Given the description of an element on the screen output the (x, y) to click on. 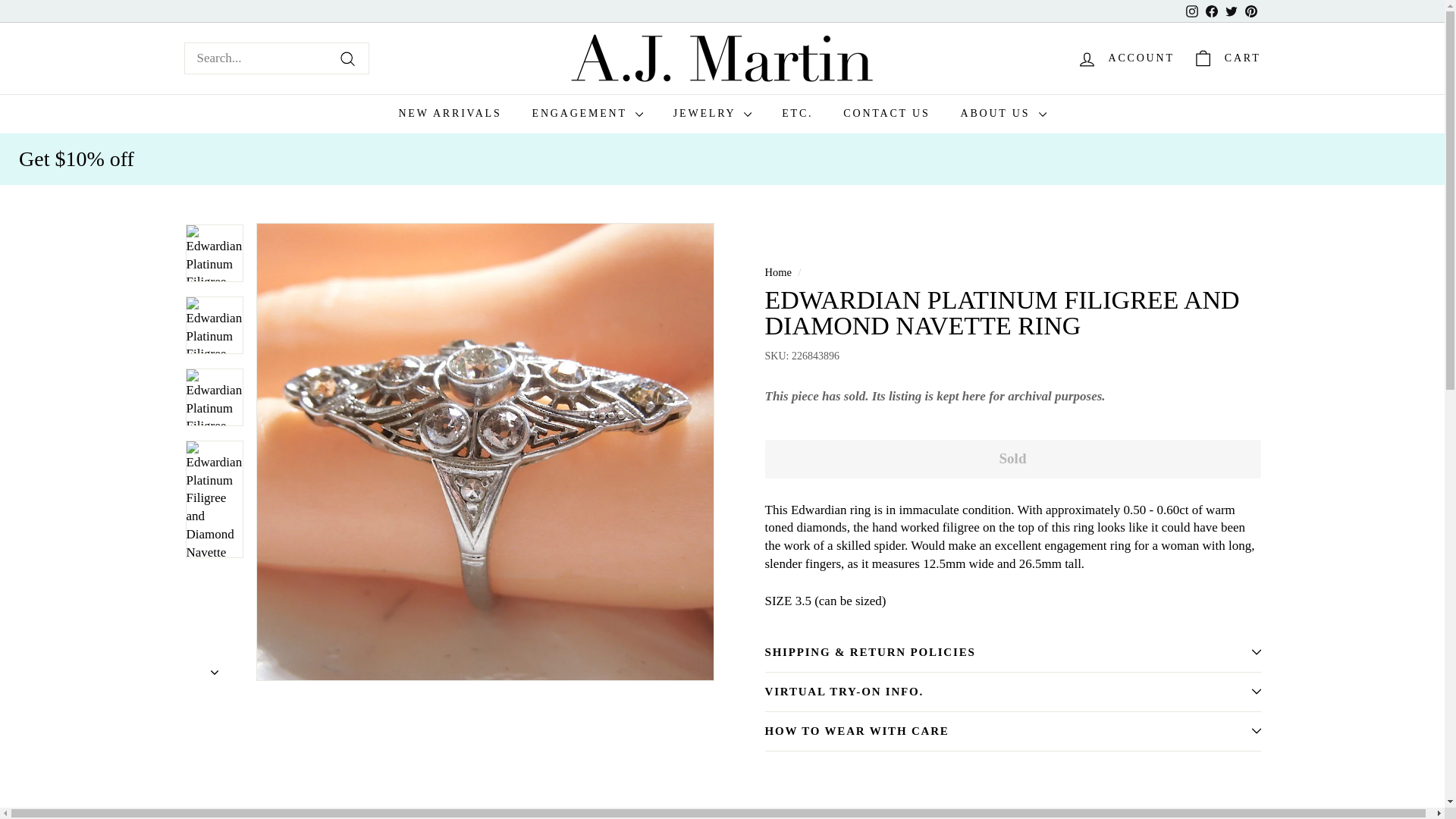
NEW ARRIVALS (449, 113)
Back to the frontpage (777, 272)
instagram (1192, 10)
ACCOUNT (1125, 58)
CART (1226, 58)
twitter (1231, 10)
